Given the description of an element on the screen output the (x, y) to click on. 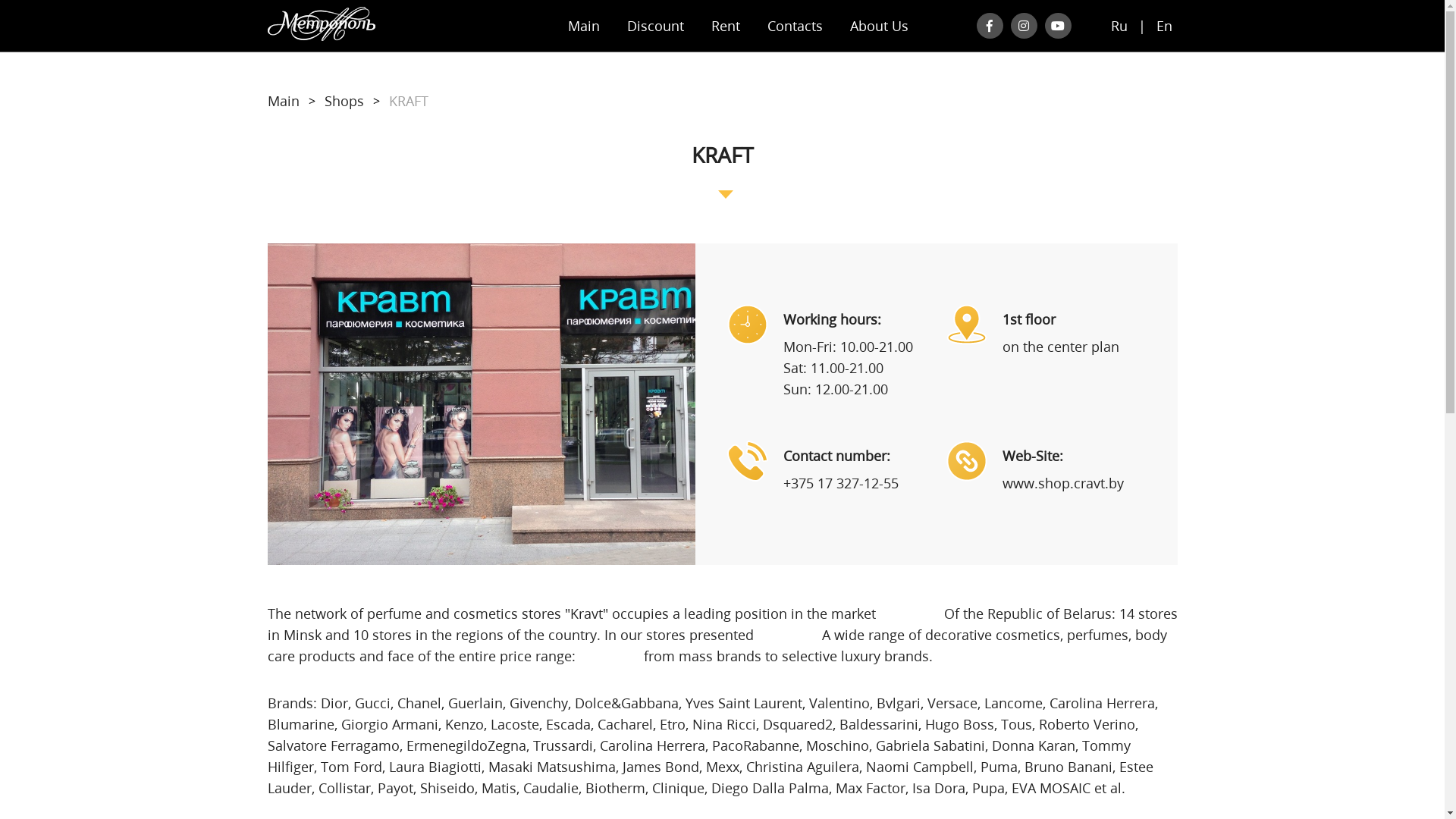
About Us Element type: text (878, 25)
Main Element type: text (282, 100)
Contact number:
+375 17 327-12-55 Element type: text (836, 466)
Discount Element type: text (654, 25)
Web-Site:
www.shop.cravt.by Element type: text (1056, 466)
Ru Element type: text (1118, 26)
Contacts Element type: text (794, 25)
Shops Element type: text (344, 100)
KRAFT Element type: text (407, 100)
Rent Element type: text (725, 25)
1st floor
on the center plan Element type: text (1056, 330)
Main Element type: text (583, 25)
En Element type: text (1163, 26)
